Given the description of an element on the screen output the (x, y) to click on. 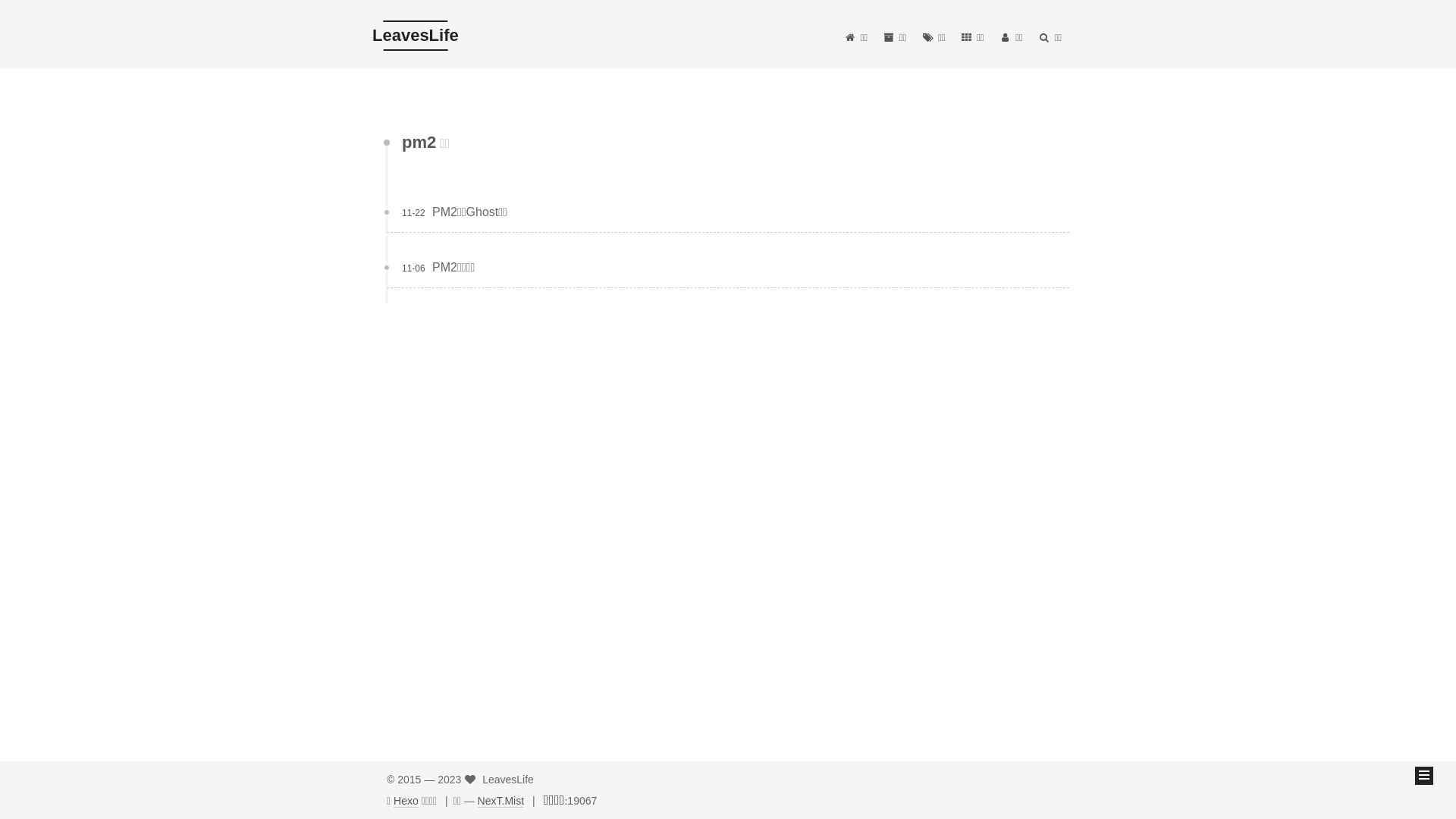
LeavesLife Element type: text (415, 35)
Hexo Element type: text (405, 800)
NexT.Mist Element type: text (500, 800)
